Given the description of an element on the screen output the (x, y) to click on. 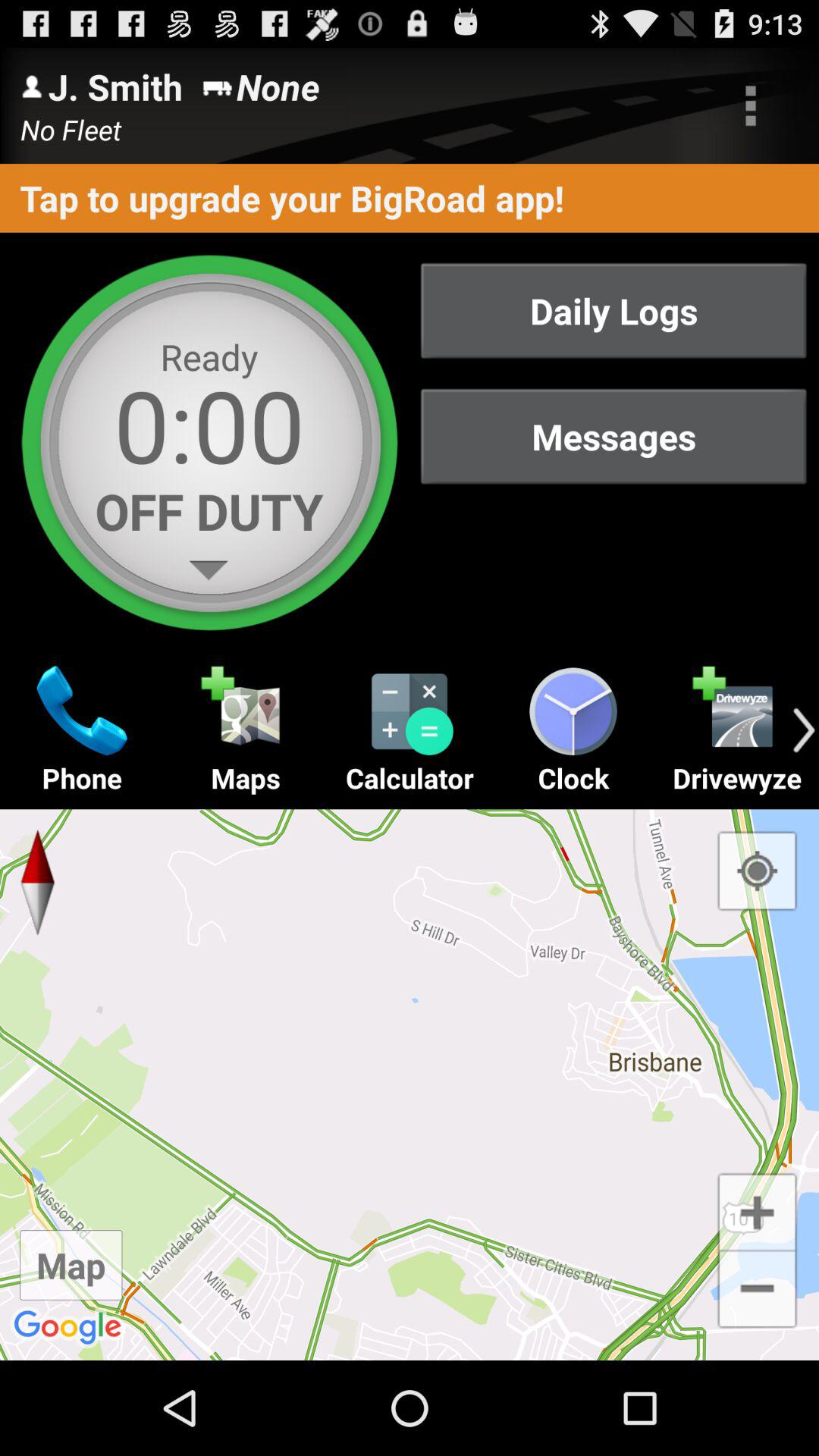
flip to daily logs button (613, 310)
